Given the description of an element on the screen output the (x, y) to click on. 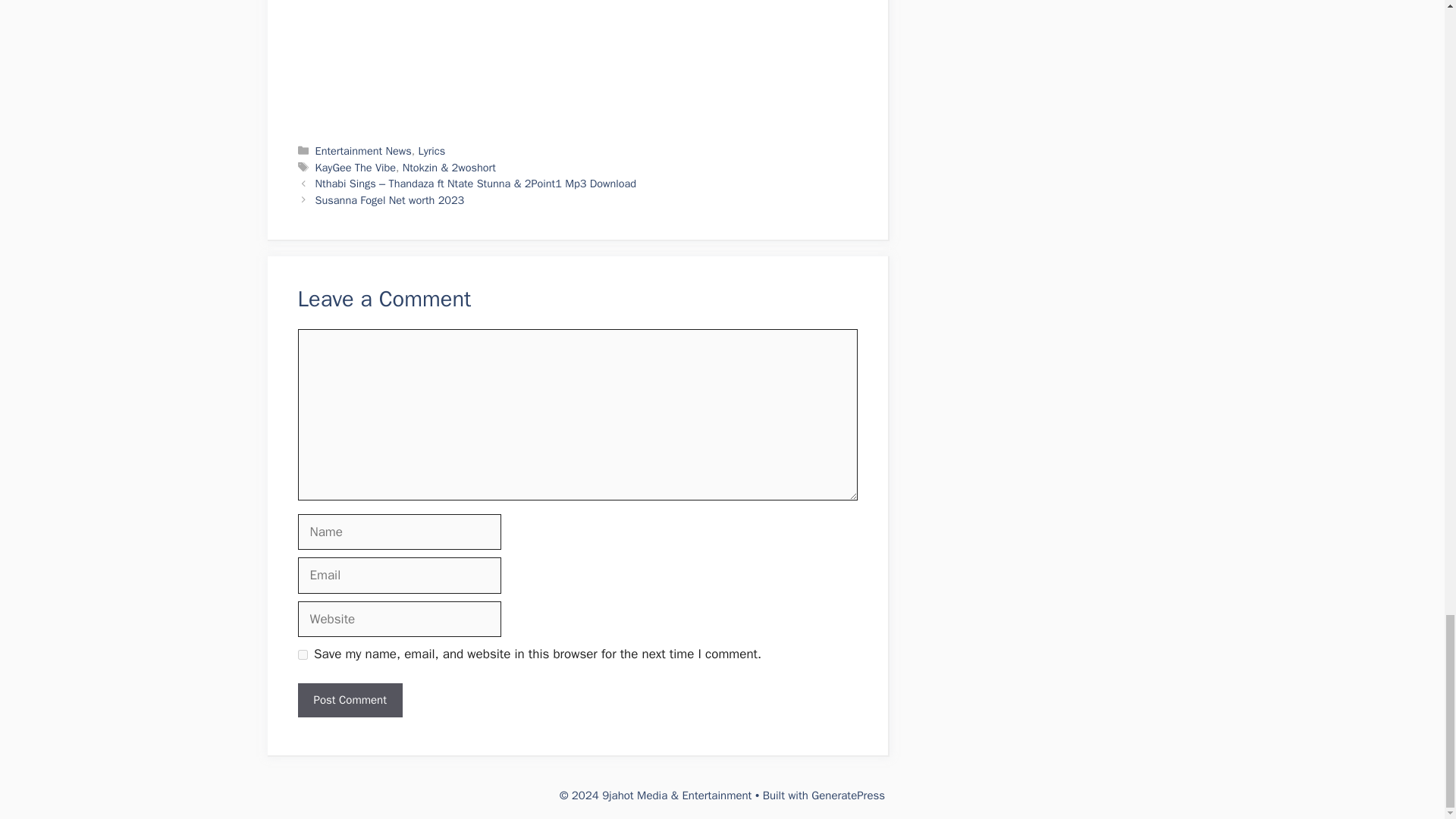
KayGee The Vibe (355, 167)
Susanna Fogel Net worth 2023 (389, 200)
Post Comment (349, 700)
yes (302, 655)
Advertisement (569, 60)
Post Comment (349, 700)
Entertainment News (363, 151)
Lyrics (431, 151)
